Given the description of an element on the screen output the (x, y) to click on. 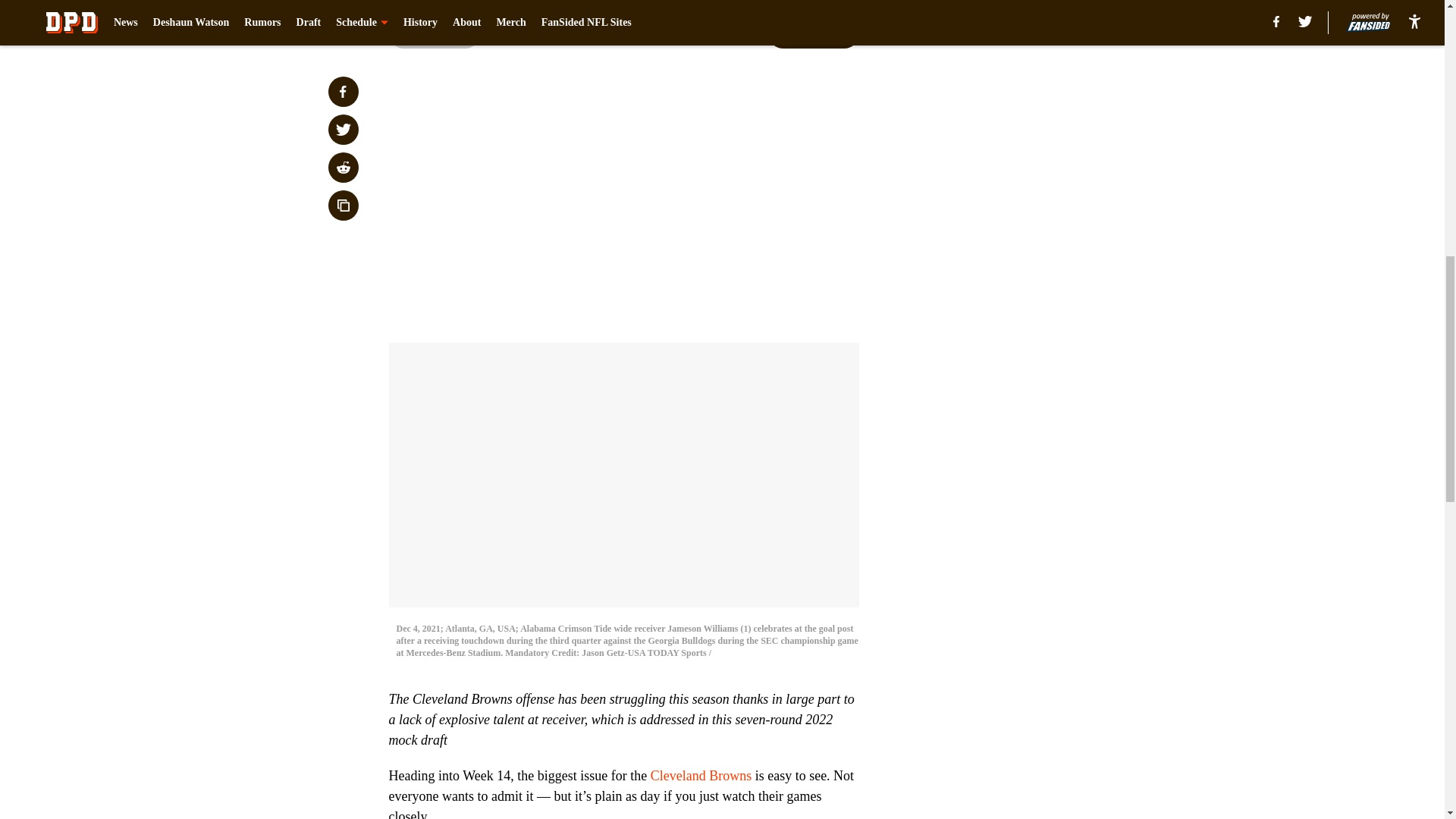
Cleveland Browns (700, 775)
Prev (433, 33)
Next (813, 33)
